Given the description of an element on the screen output the (x, y) to click on. 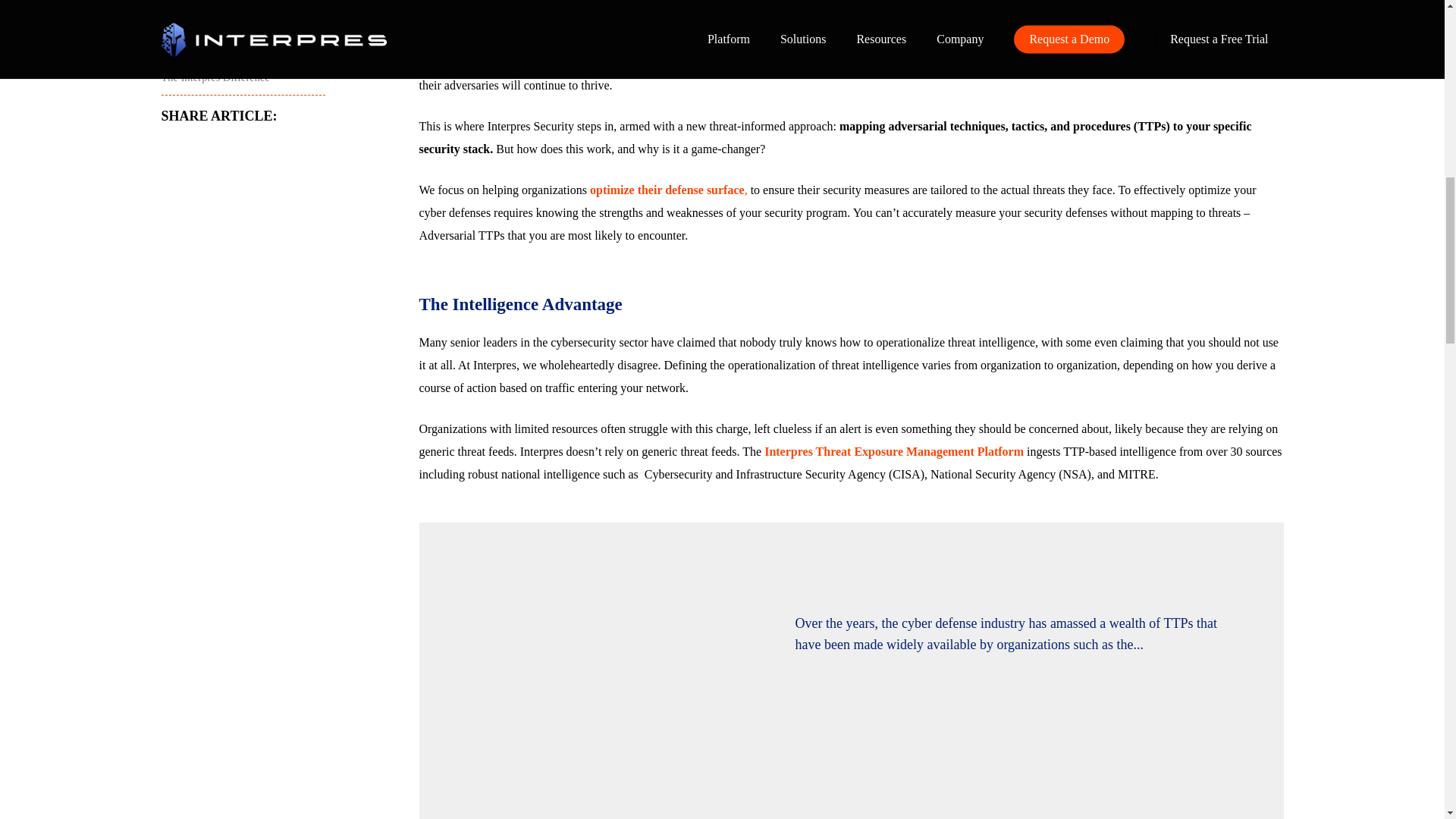
The Threat Landscape Revealed (231, 44)
From Intelligence to Insight (221, 9)
The Interpres Difference (214, 77)
